Given the description of an element on the screen output the (x, y) to click on. 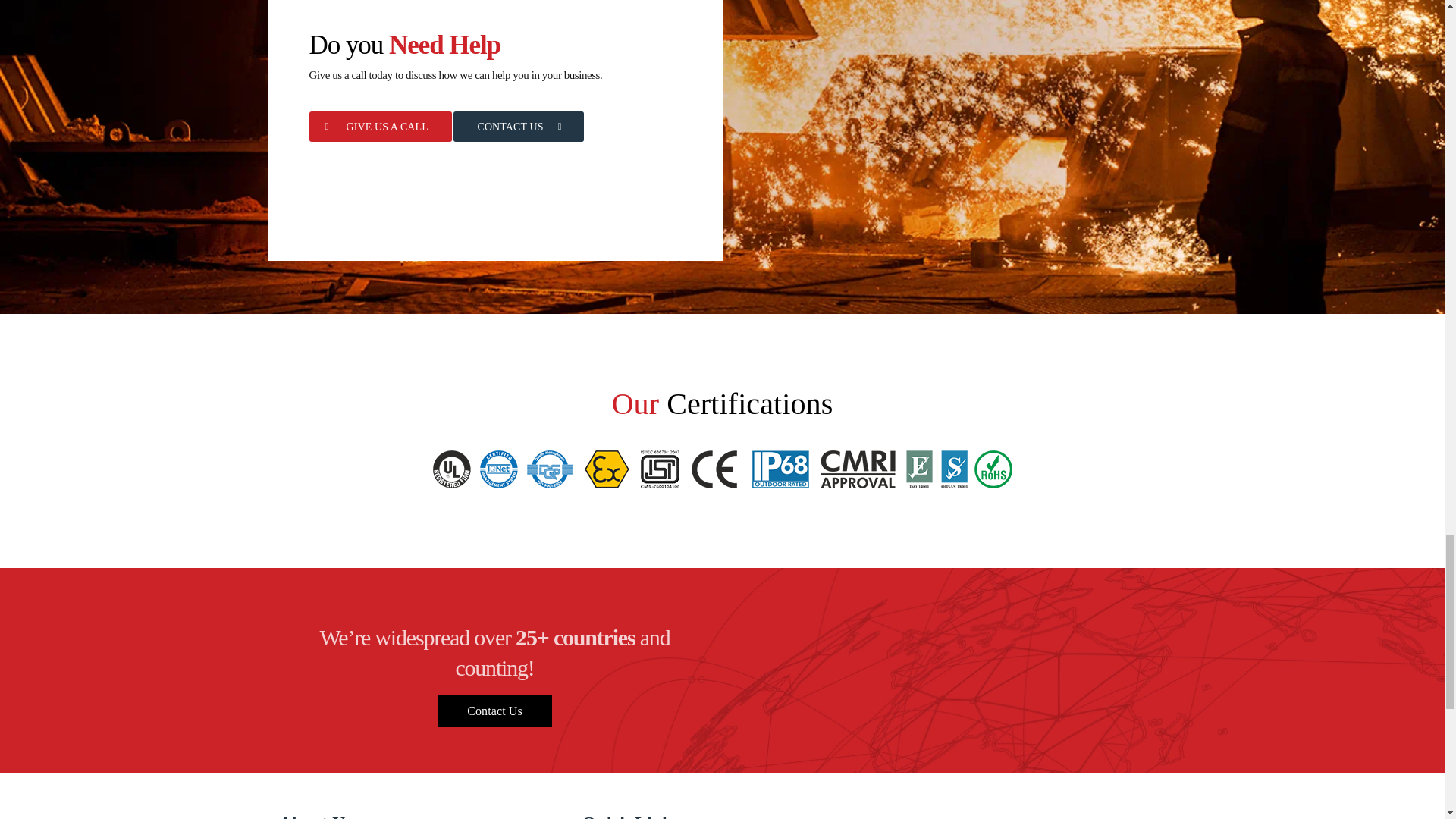
GIVE US A CALL (379, 126)
Contact Us (494, 710)
CONTACT US (517, 126)
